Given the description of an element on the screen output the (x, y) to click on. 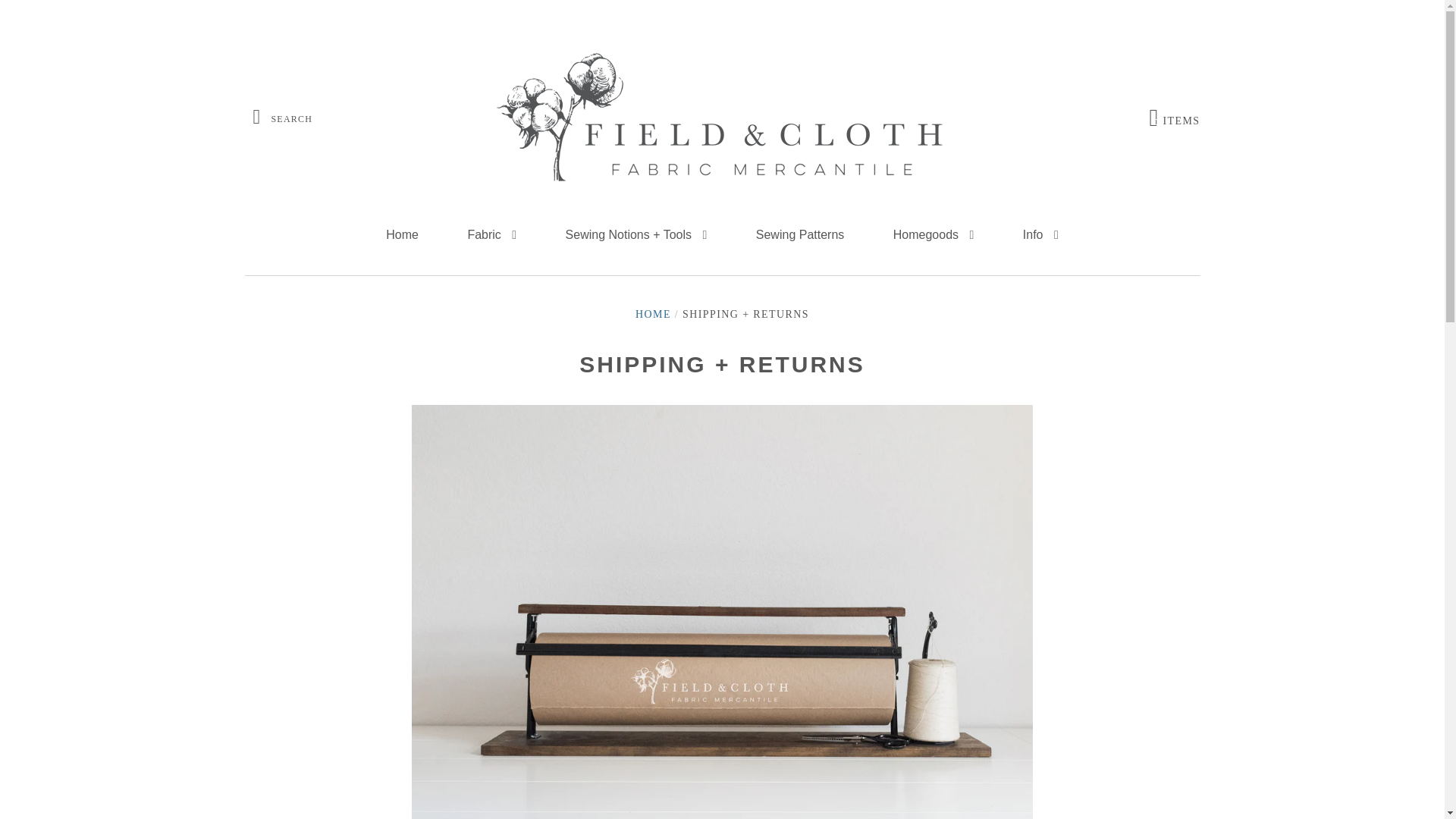
Info (1040, 234)
HOME (652, 314)
Sewing Patterns (800, 234)
Homegoods (1174, 117)
Home (933, 234)
Fabric (401, 234)
